Given the description of an element on the screen output the (x, y) to click on. 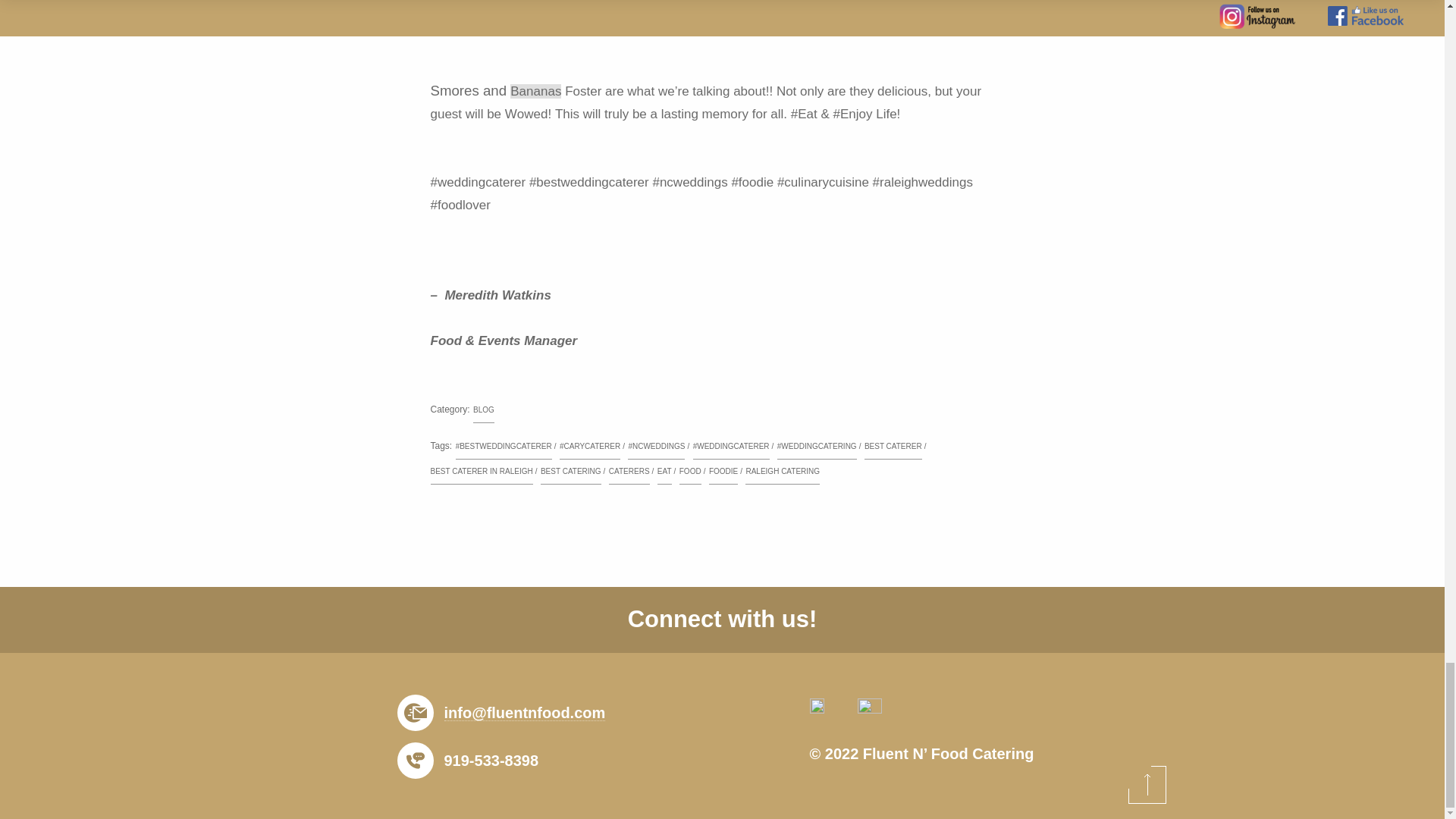
Blog (484, 411)
